Given the description of an element on the screen output the (x, y) to click on. 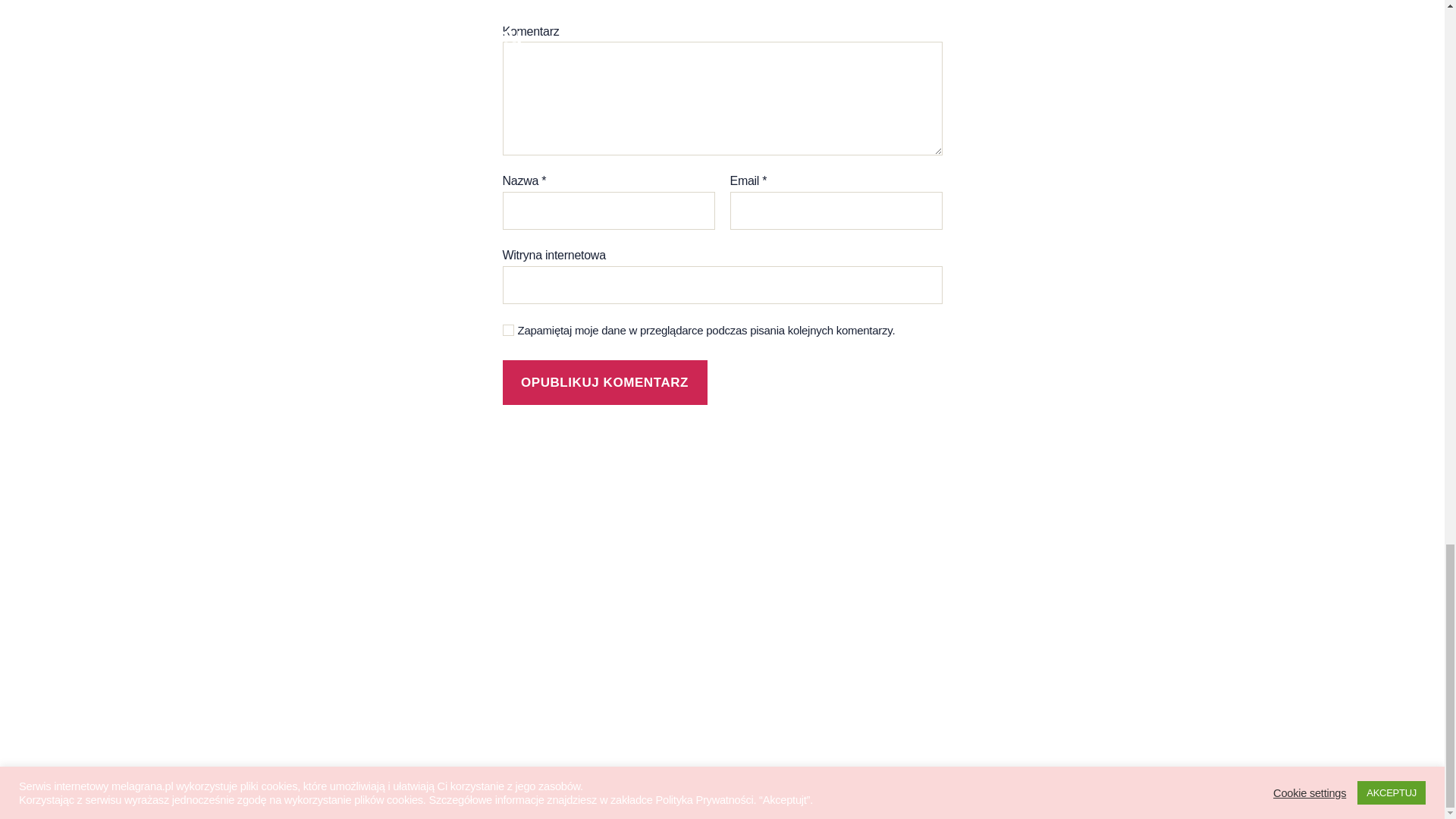
Opublikuj komentarz (604, 382)
moja historia (310, 552)
Malagrana (327, 776)
o nas (285, 526)
co robimy (300, 579)
oferta (285, 630)
kontakt (291, 656)
Opublikuj komentarz (604, 382)
yes (507, 329)
